Given the description of an element on the screen output the (x, y) to click on. 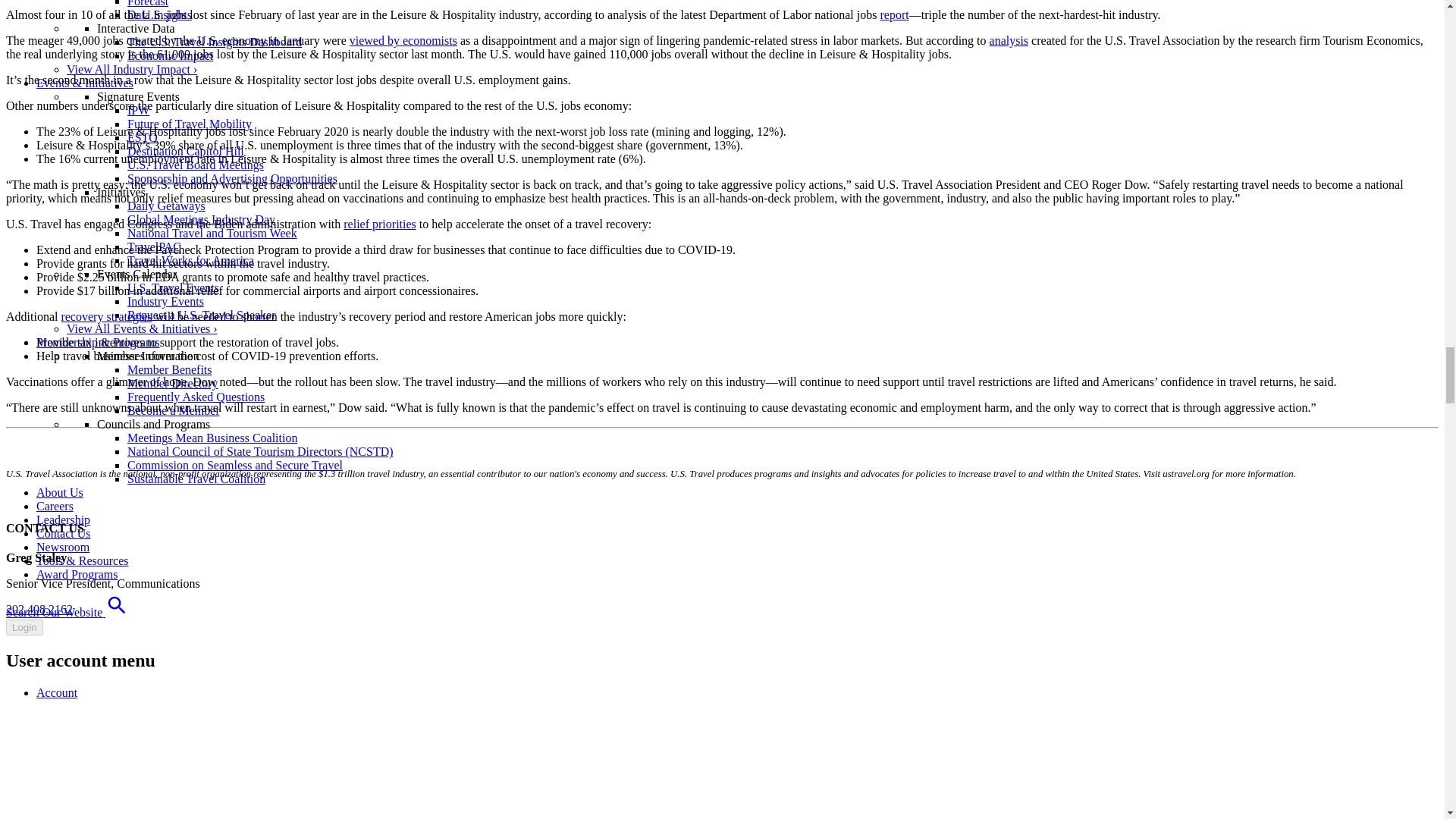
Economic Impact (170, 55)
Forecast (148, 3)
The U.S. Travel Insights Dashboard (214, 42)
Login (24, 627)
Future of Travel Mobility (189, 123)
Data Insights (160, 14)
IPW (138, 110)
